Given the description of an element on the screen output the (x, y) to click on. 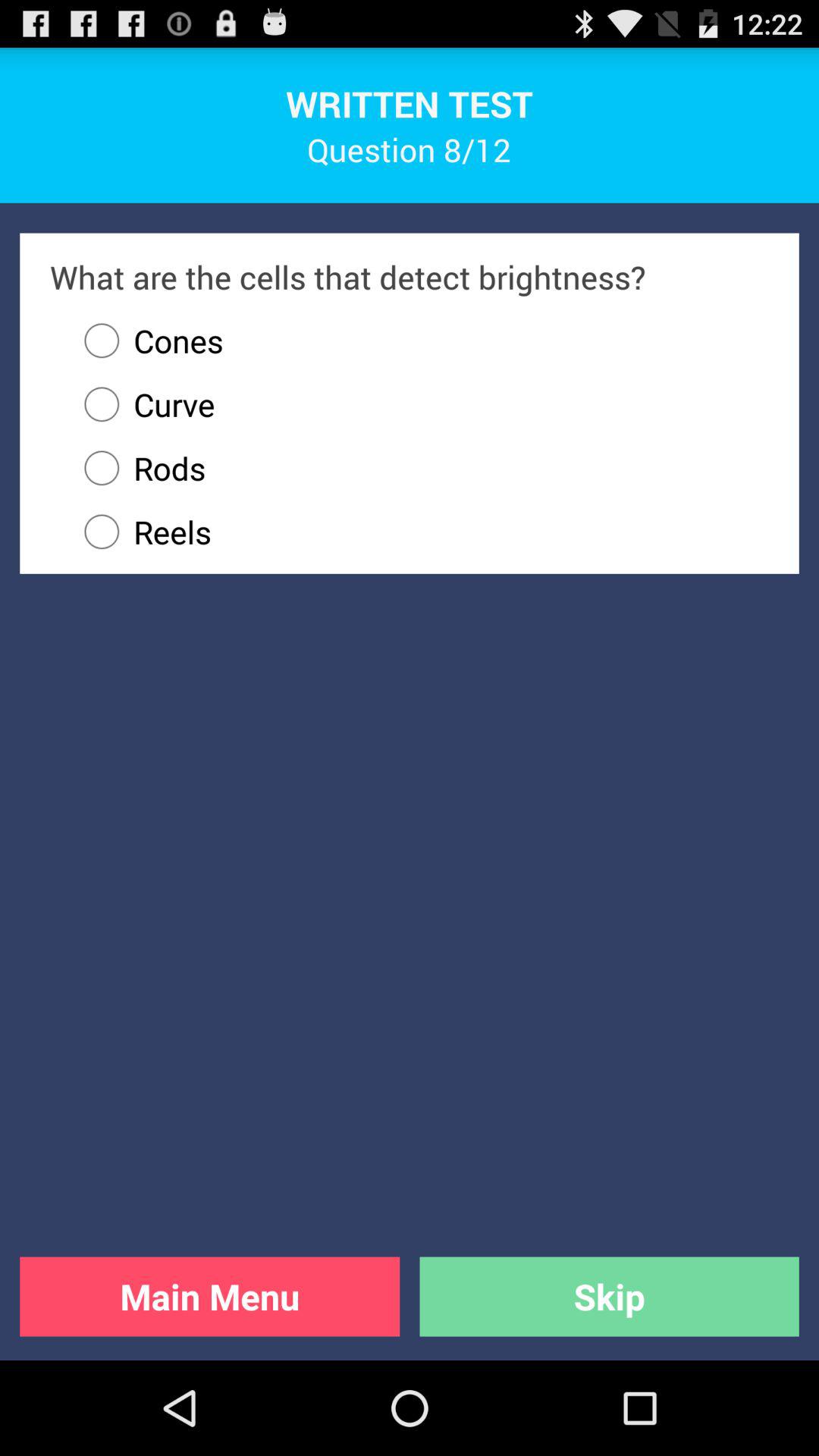
tap the reels icon (418, 531)
